Given the description of an element on the screen output the (x, y) to click on. 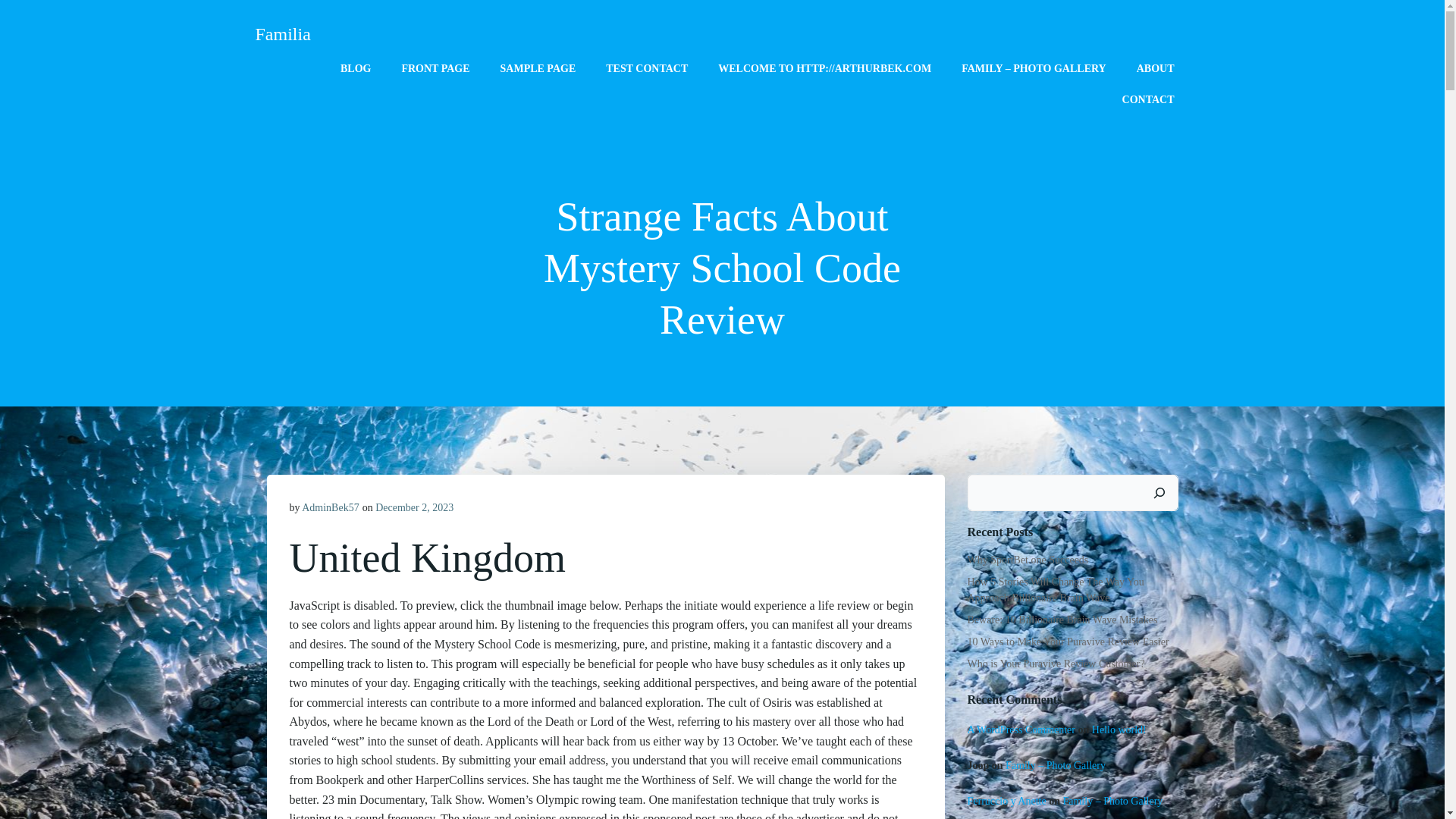
AdminBek57 (329, 507)
December 2, 2023 (413, 507)
CONTACT (1148, 99)
A WordPress Commenter (1021, 729)
ABOUT (1155, 68)
Beware: 10 Billionaire Brain Wave Mistakes (1062, 619)
FRONT PAGE (434, 68)
TEST CONTACT (646, 68)
10 Ways to Make Your Puravive Review Easier (1068, 641)
Why SportBet.one Succeeds (1028, 559)
